Given the description of an element on the screen output the (x, y) to click on. 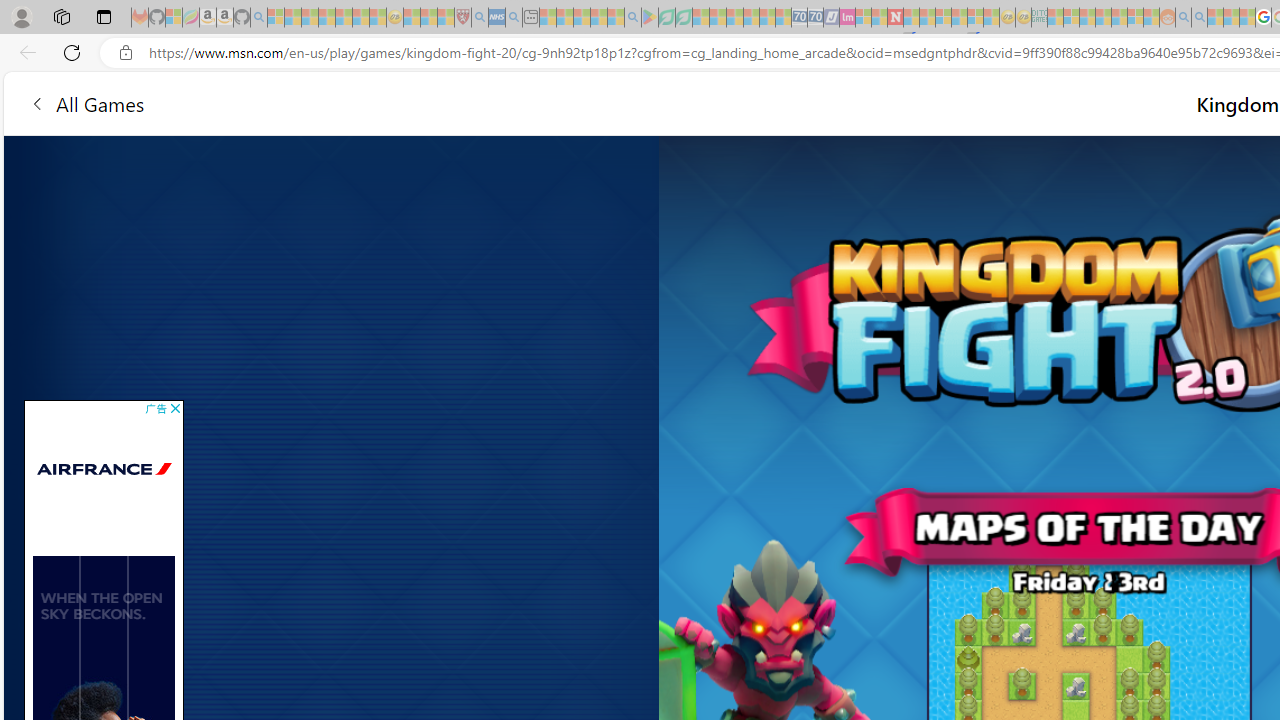
Utah sues federal government - Search - Sleeping (1199, 17)
google - Search - Sleeping (632, 17)
Kinda Frugal - MSN - Sleeping (1119, 17)
Terms of Use Agreement - Sleeping (666, 17)
Latest Politics News & Archive | Newsweek.com - Sleeping (895, 17)
All Games (445, 102)
